Given the description of an element on the screen output the (x, y) to click on. 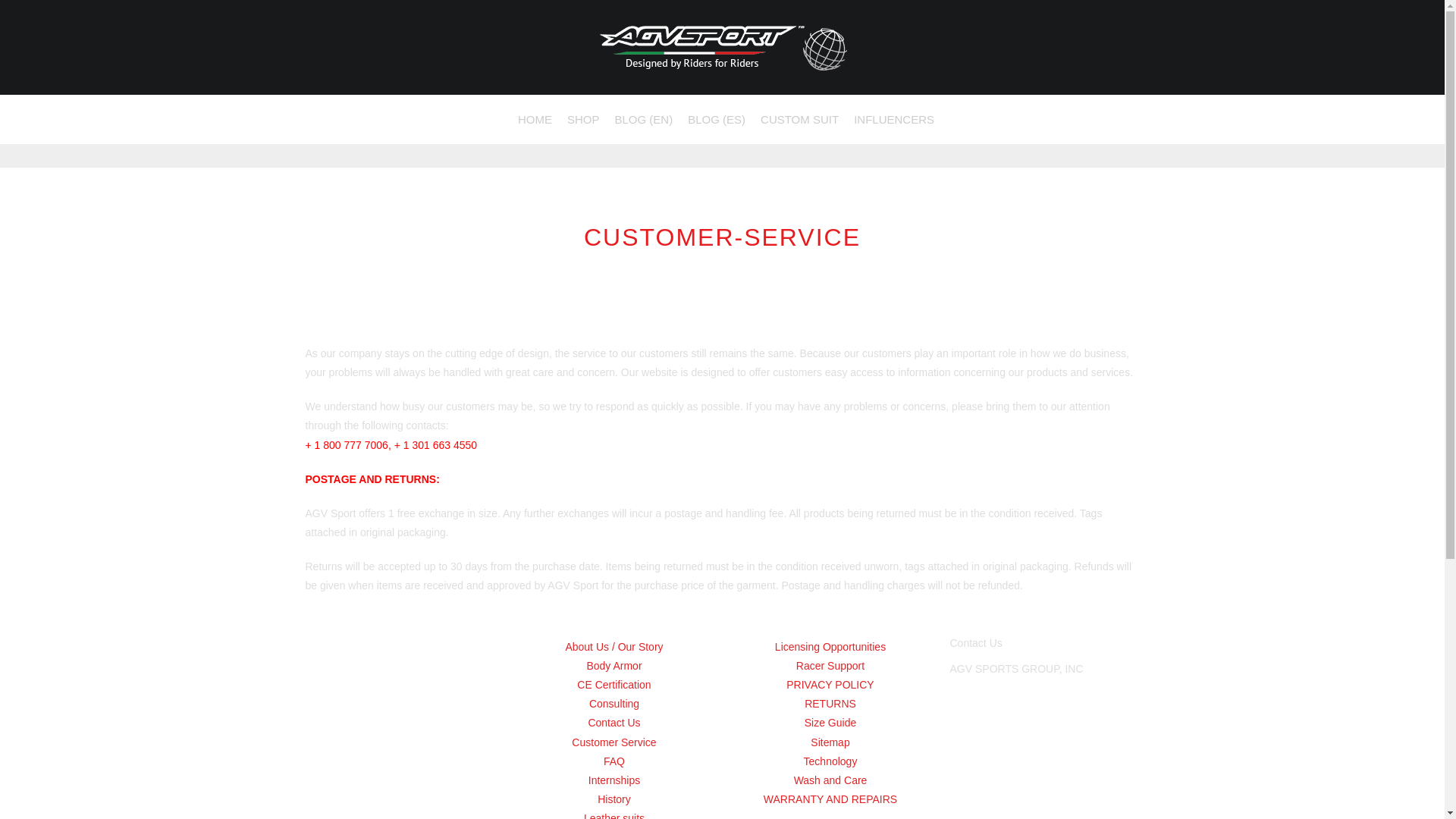
History (613, 799)
FAQ (613, 761)
INFLUENCERS (893, 119)
Internships (613, 780)
Body Armor (613, 665)
Racer Support (830, 665)
Consulting (613, 703)
Licensing Opportunities (830, 647)
AGV Sport Google My Business Listing (1045, 807)
Contact Us (613, 722)
